Given the description of an element on the screen output the (x, y) to click on. 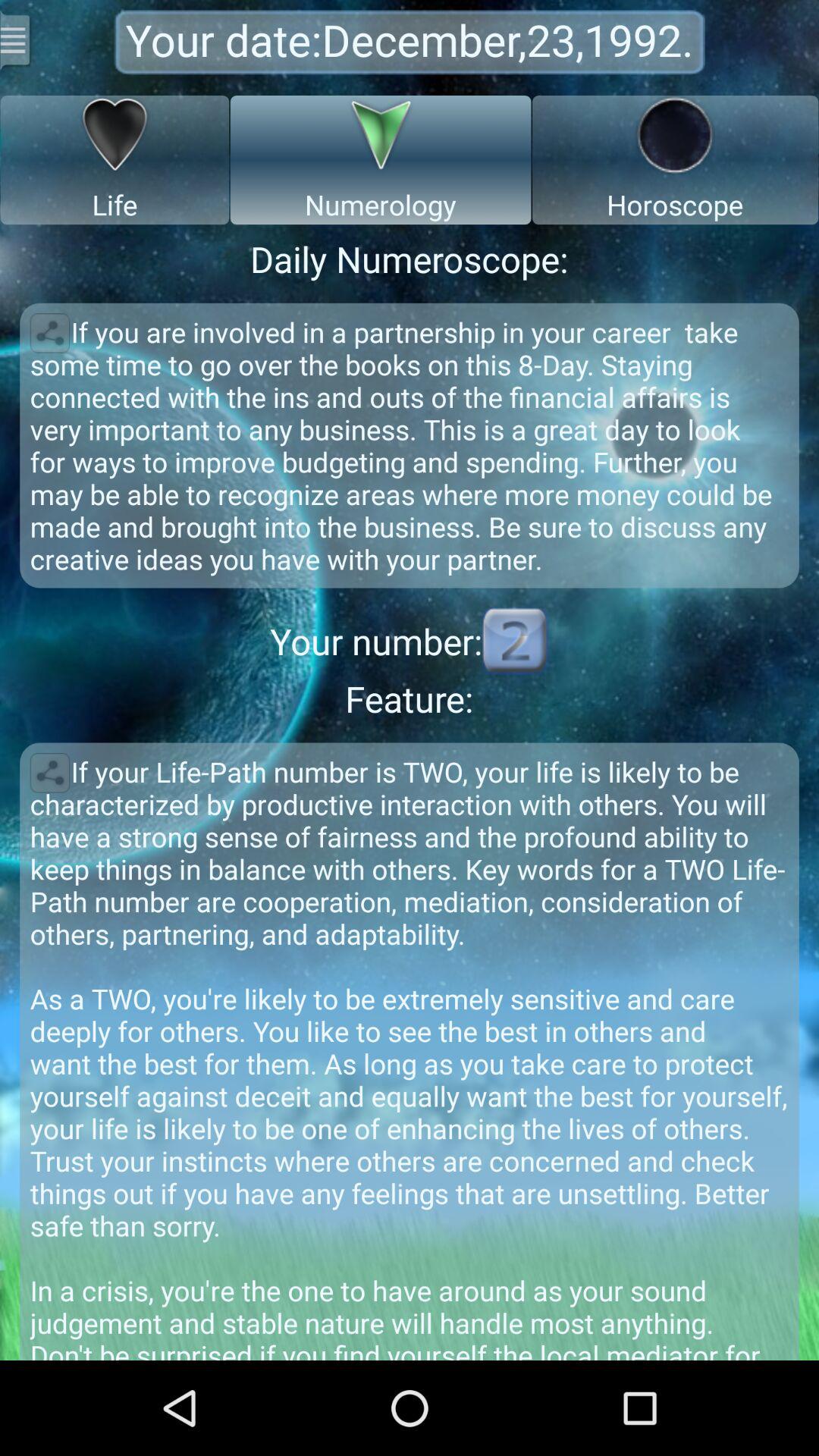
share numeroscope (49, 333)
